Given the description of an element on the screen output the (x, y) to click on. 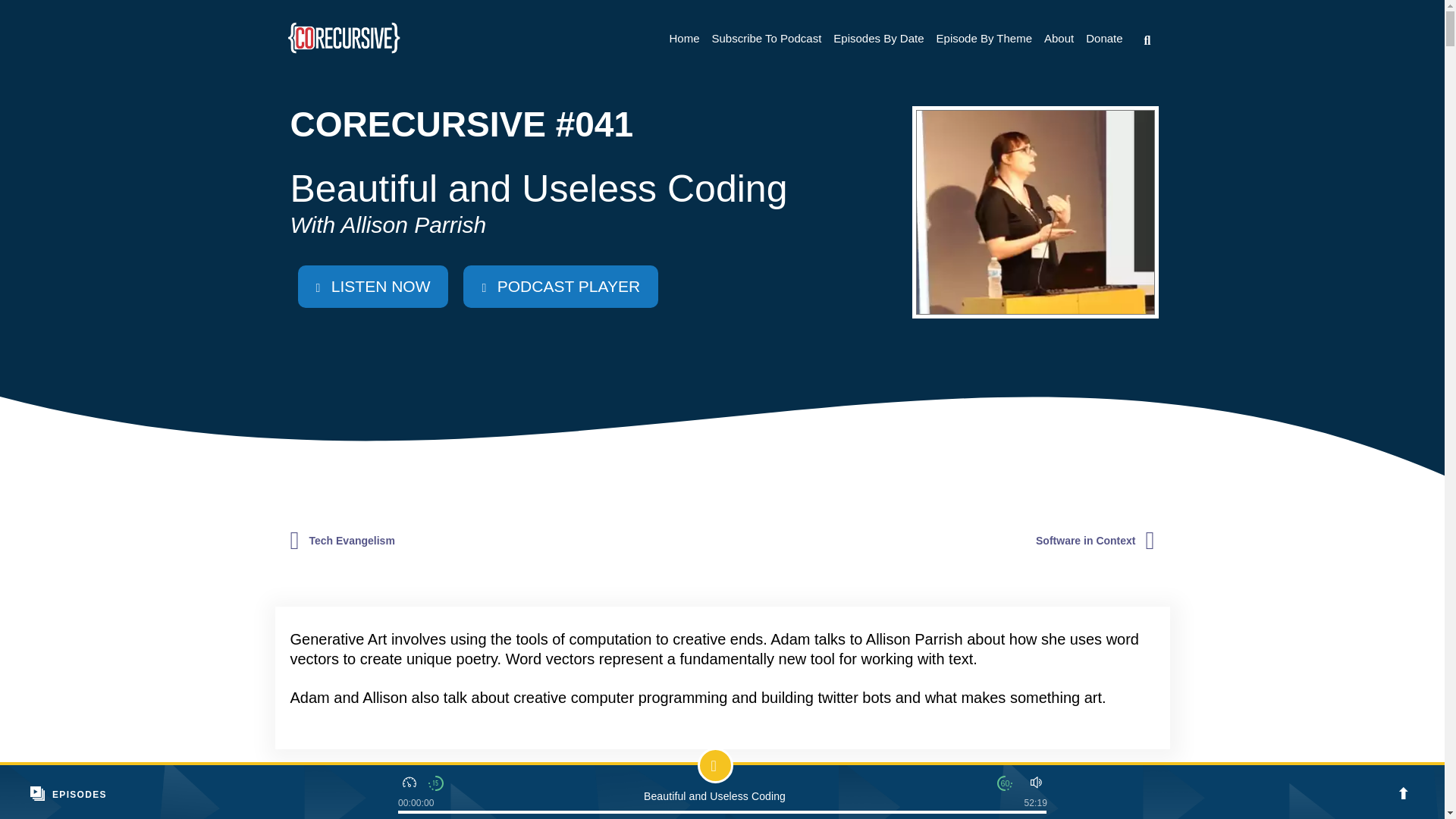
About (1058, 38)
PODCAST PLAYER (560, 286)
Tech Evangelism (351, 540)
Home (683, 38)
Subscribe To Podcast (766, 38)
Donate (1104, 38)
Episodes By Date (877, 38)
Episode By Theme (984, 38)
Software in Context (1085, 540)
LISTEN NOW (372, 286)
Tech Evangelism (351, 540)
Software in Context  (1085, 540)
